Given the description of an element on the screen output the (x, y) to click on. 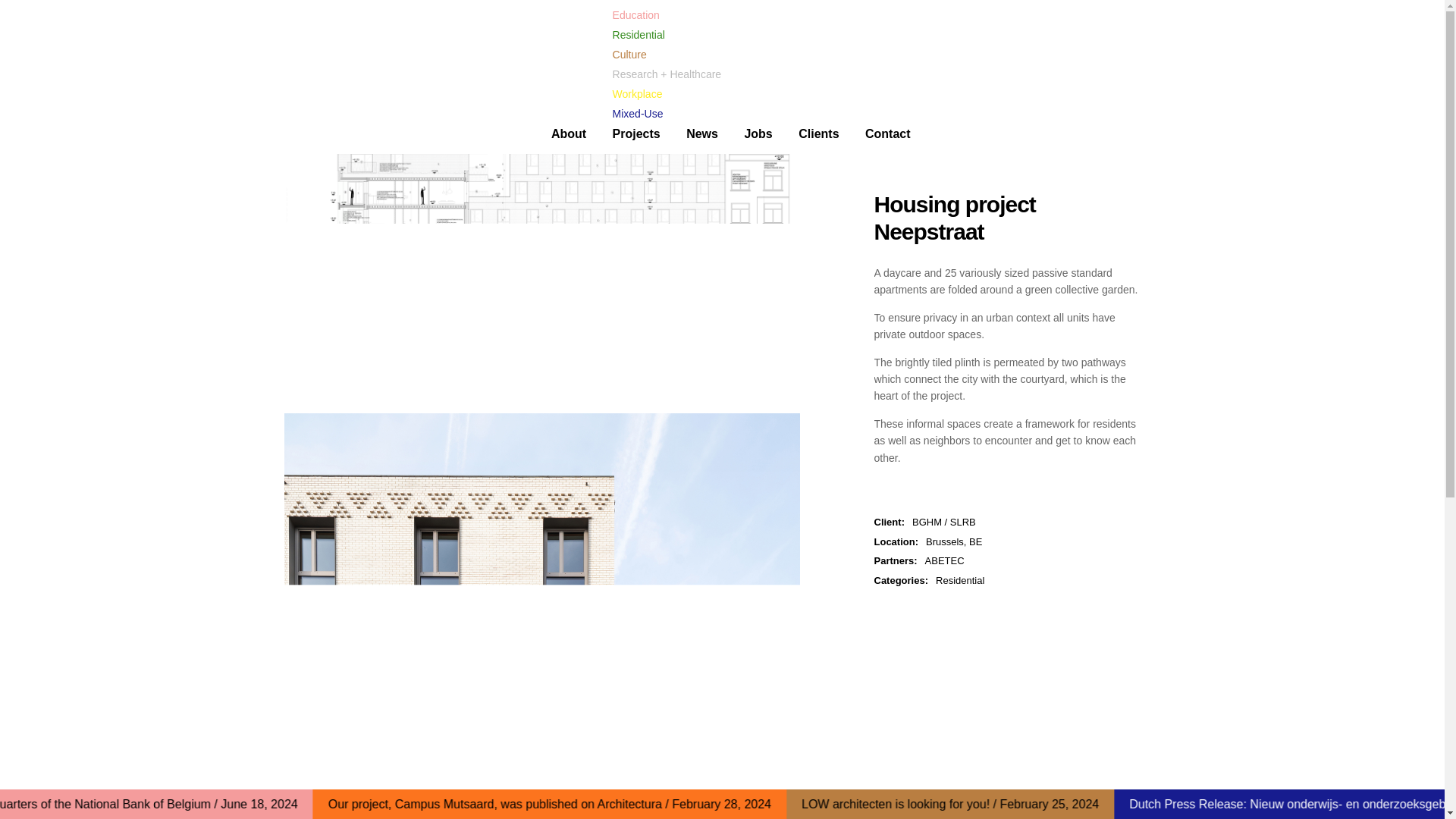
Culture (707, 54)
Clients (817, 134)
Projects (636, 134)
Residential (960, 580)
News (701, 134)
About (568, 134)
Education (707, 14)
Jobs (757, 134)
Contact (887, 134)
Workplace (707, 94)
